Given the description of an element on the screen output the (x, y) to click on. 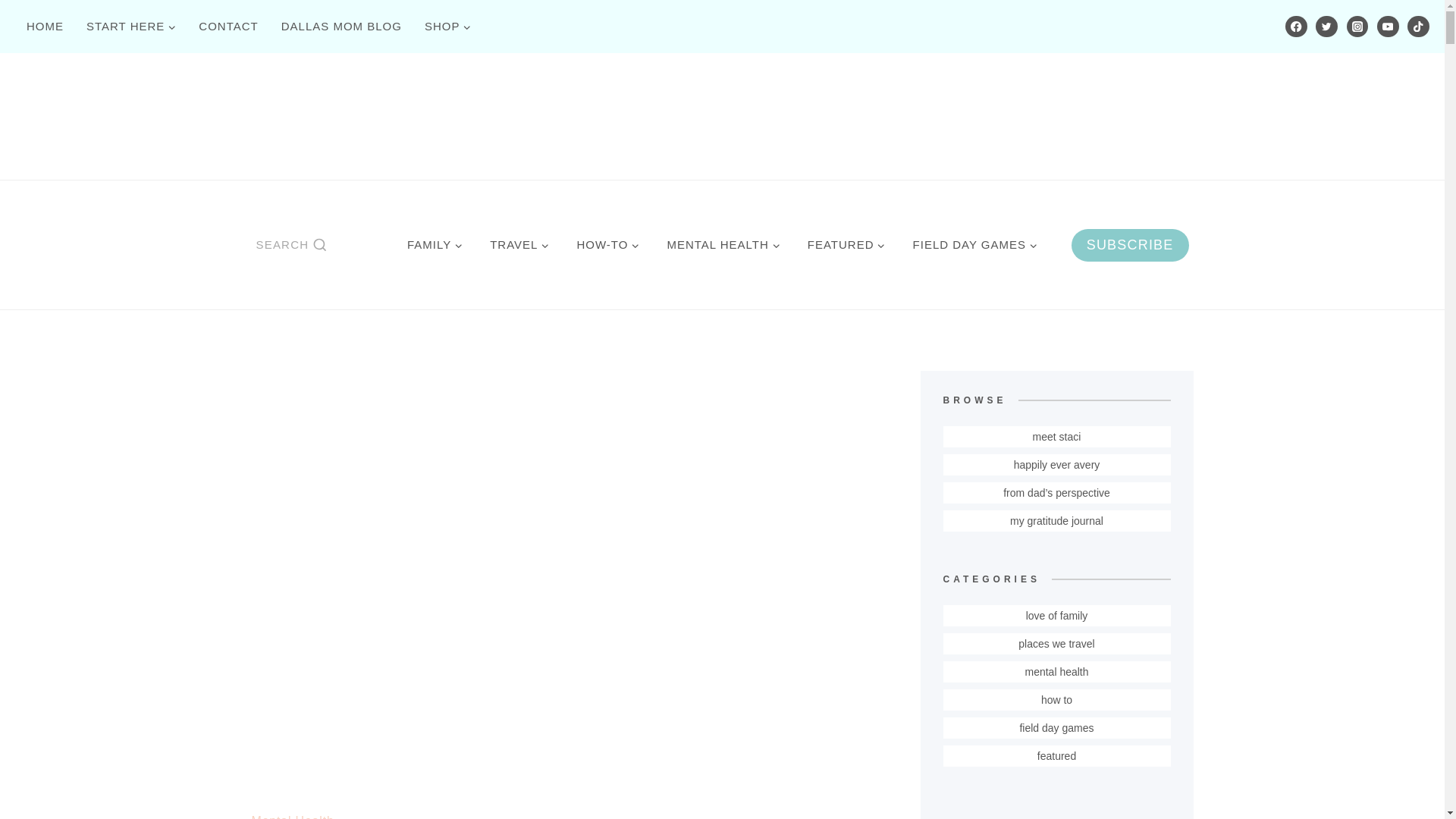
HOW-TO (607, 244)
TRAVEL (519, 244)
SHOP (448, 26)
FAMILY (434, 244)
DALLAS MOM BLOG (341, 26)
CONTACT (228, 26)
SEARCH (291, 244)
HOME (44, 26)
START HERE (131, 26)
